Given the description of an element on the screen output the (x, y) to click on. 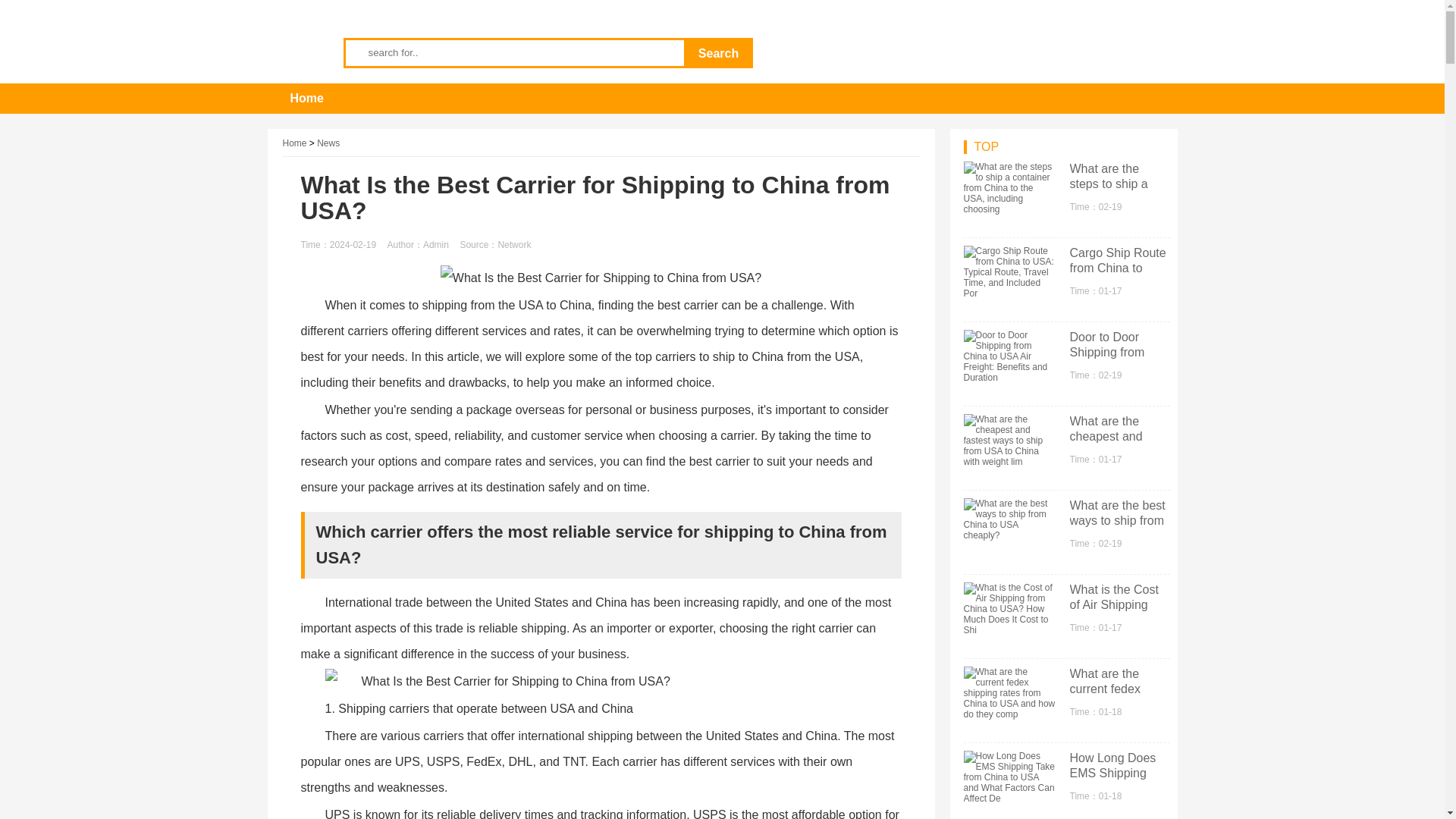
Home (293, 143)
Home (306, 98)
Search (719, 53)
News (328, 143)
